Given the description of an element on the screen output the (x, y) to click on. 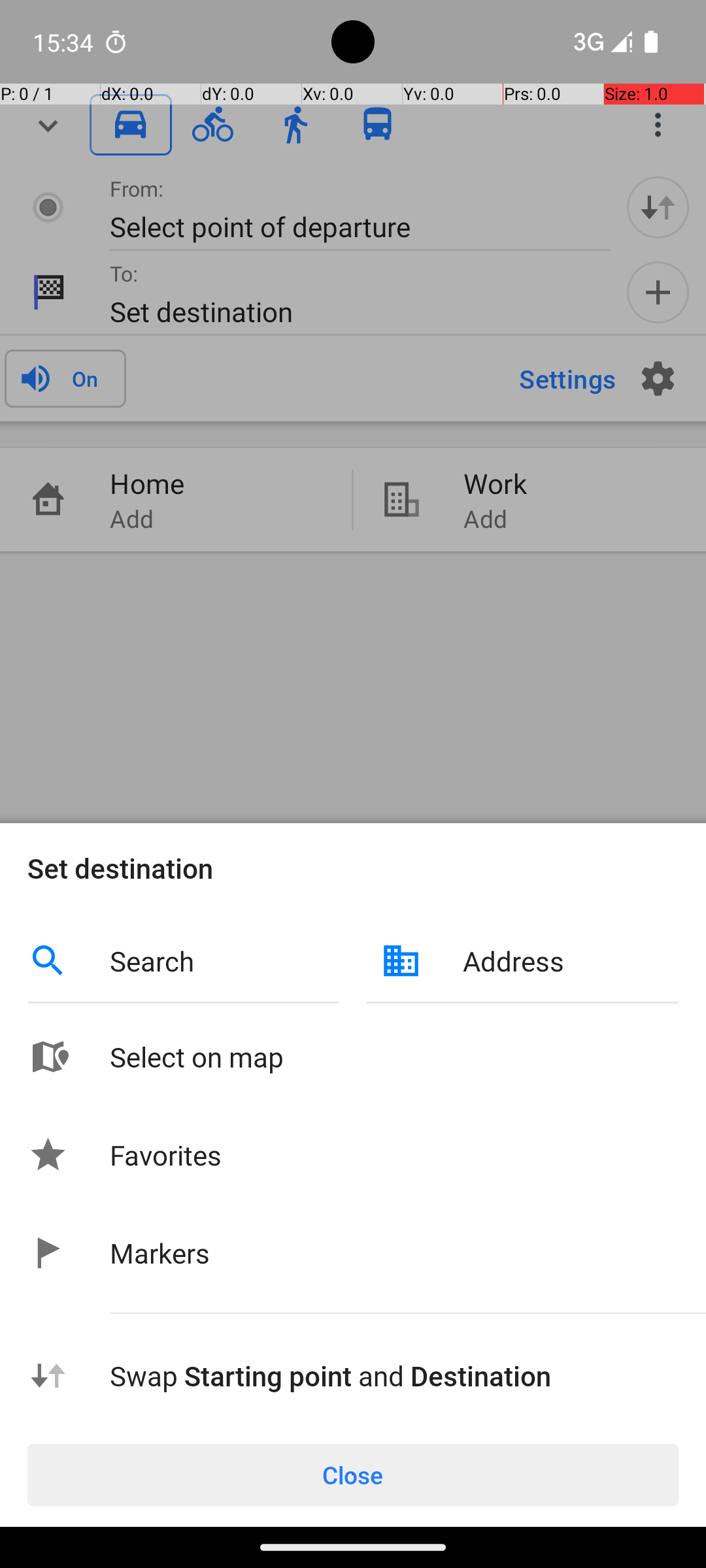
Select on map Element type: android.widget.TextView (393, 1056)
Swap Starting point and Destination Element type: android.widget.TextView (393, 1375)
